Given the description of an element on the screen output the (x, y) to click on. 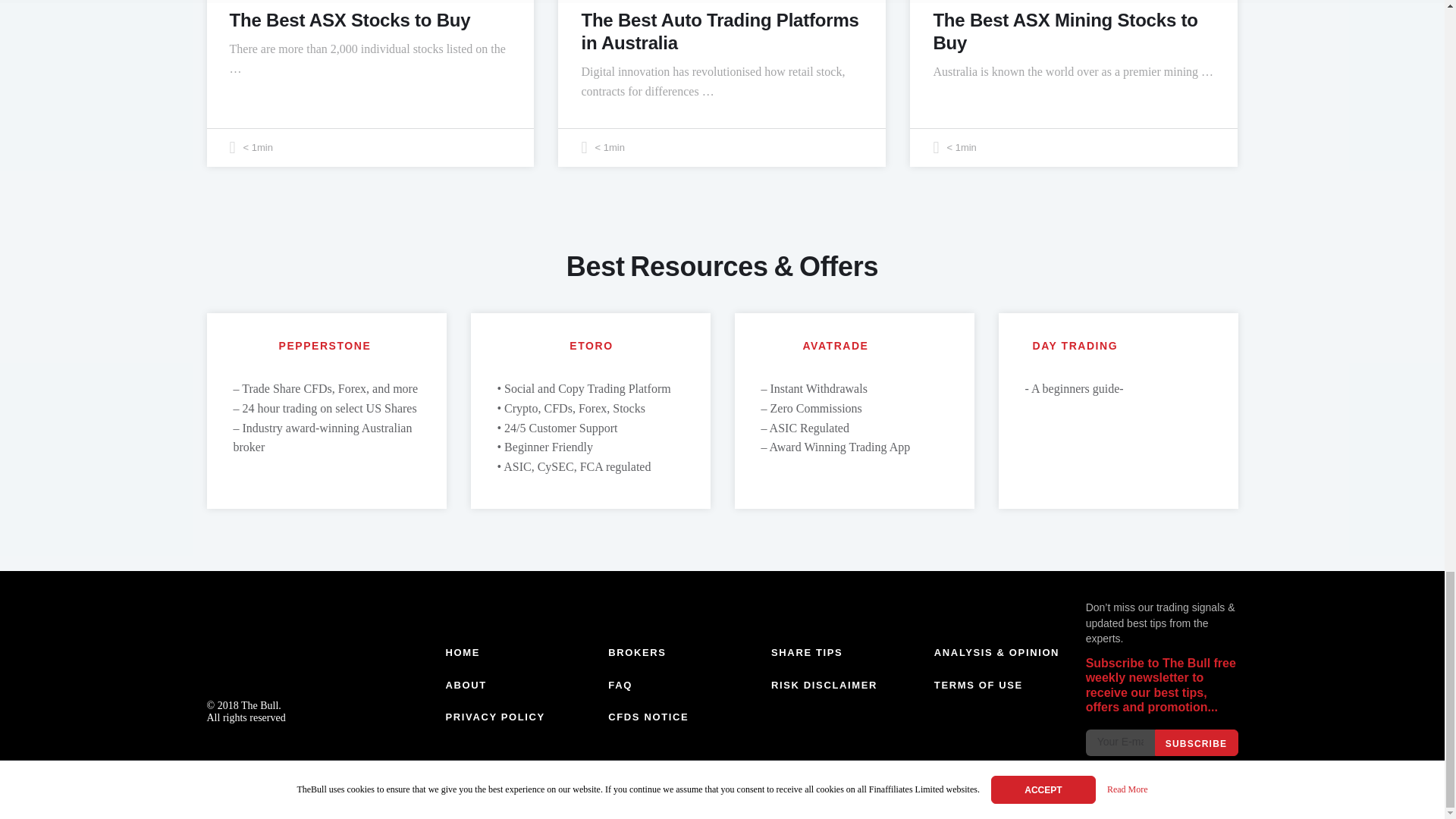
Subscribe (1195, 742)
The Best Auto Trading Platforms in Australia (719, 31)
The Best ASX Stocks to Buy (349, 19)
